Given the description of an element on the screen output the (x, y) to click on. 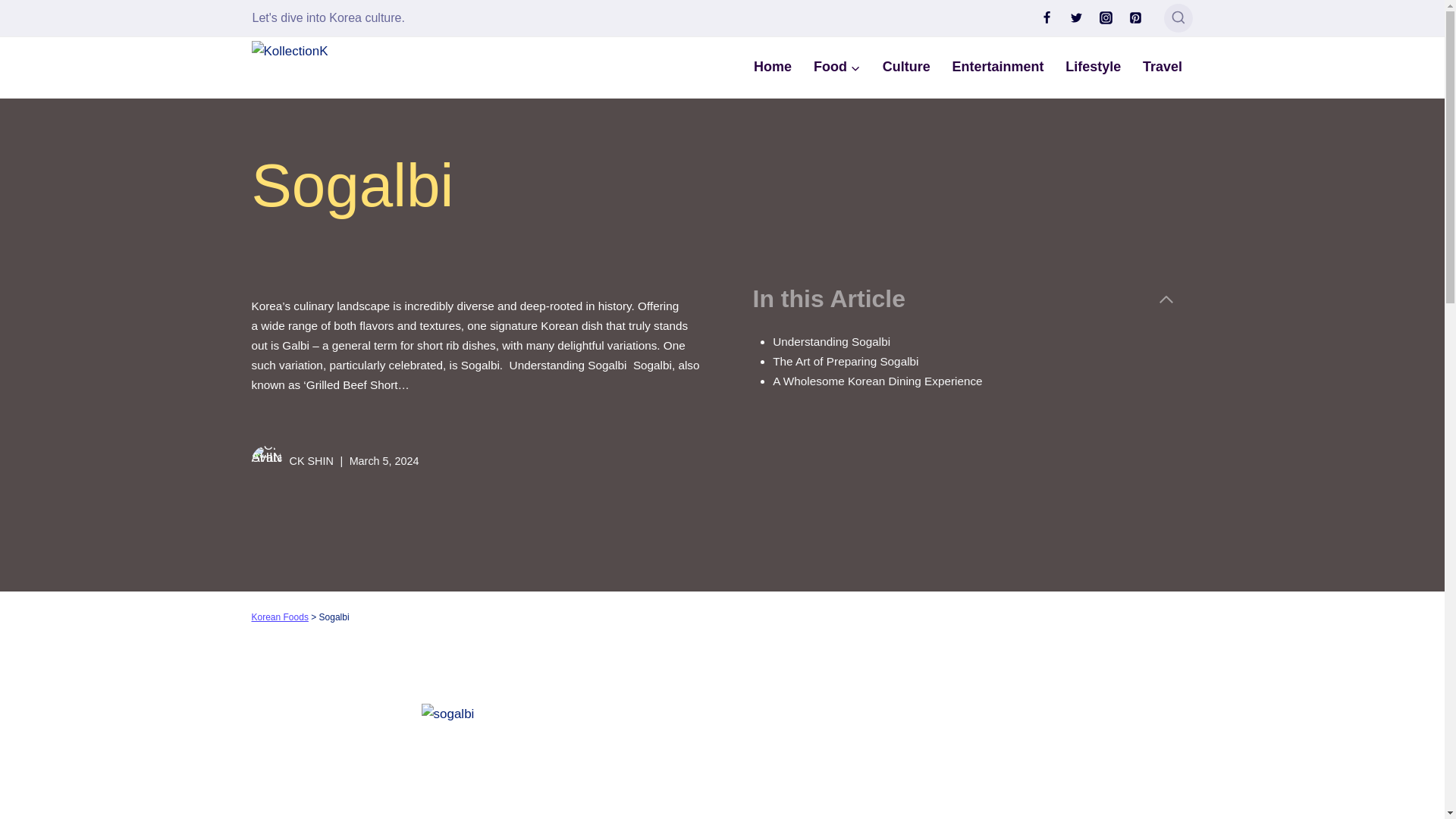
A Wholesome Korean Dining Experience  (879, 380)
Korean Foods (279, 616)
Food (836, 66)
In this Article (963, 298)
Go to Korean Foods. (279, 616)
Understanding Sogalbi  (833, 341)
Entertainment (997, 66)
Culture (905, 66)
Travel (1162, 66)
Lifestyle (1093, 66)
